Given the description of an element on the screen output the (x, y) to click on. 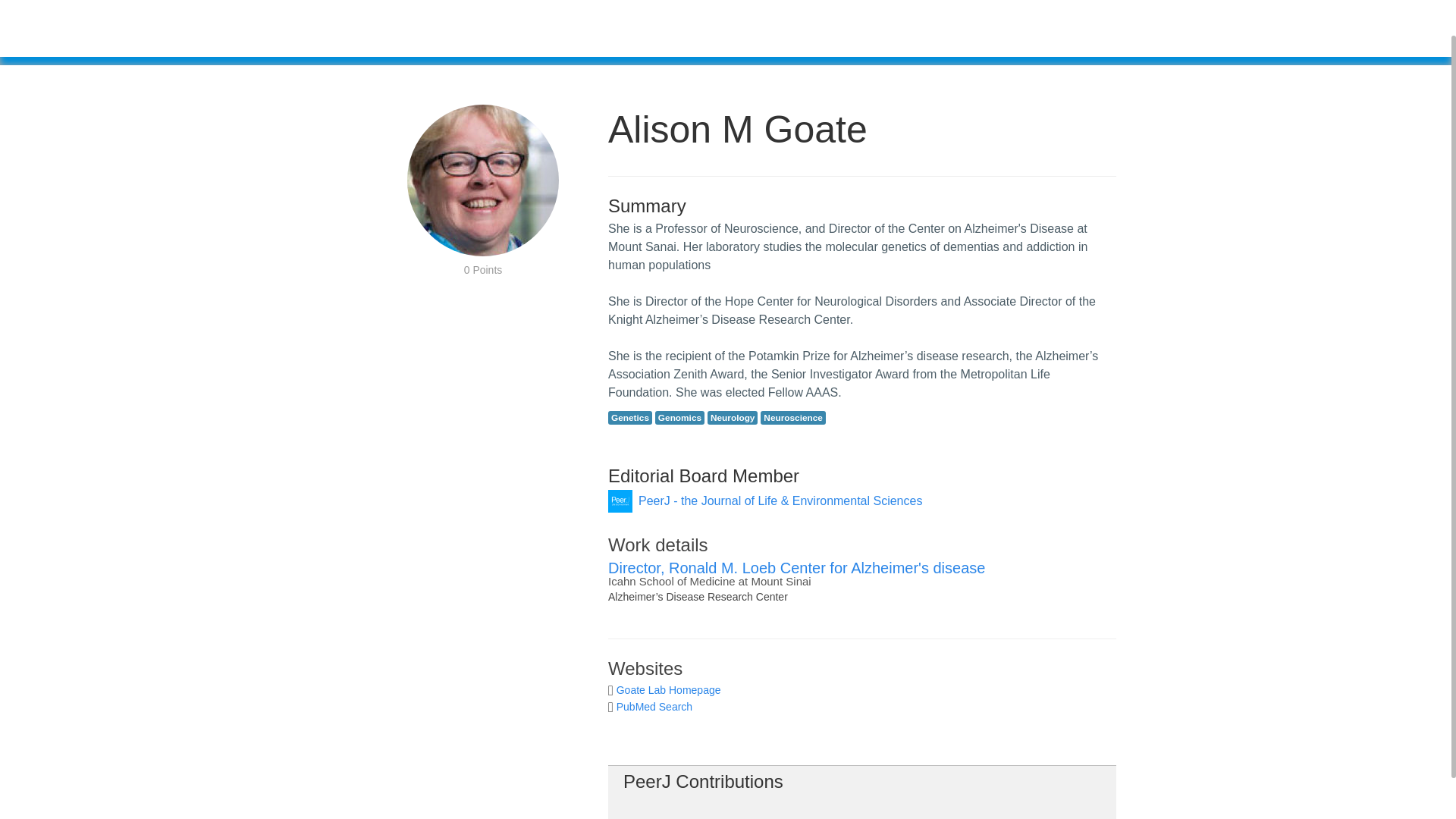
Or learn about other options (804, 37)
Genomics (679, 417)
Neurology (732, 417)
Goate Lab Homepage (667, 689)
Neuroscience (792, 417)
Create my FREE Plan (652, 35)
Goate Lab Homepage (667, 689)
PubMed Search (654, 706)
PubMed Search (654, 706)
Genetics (630, 417)
